Given the description of an element on the screen output the (x, y) to click on. 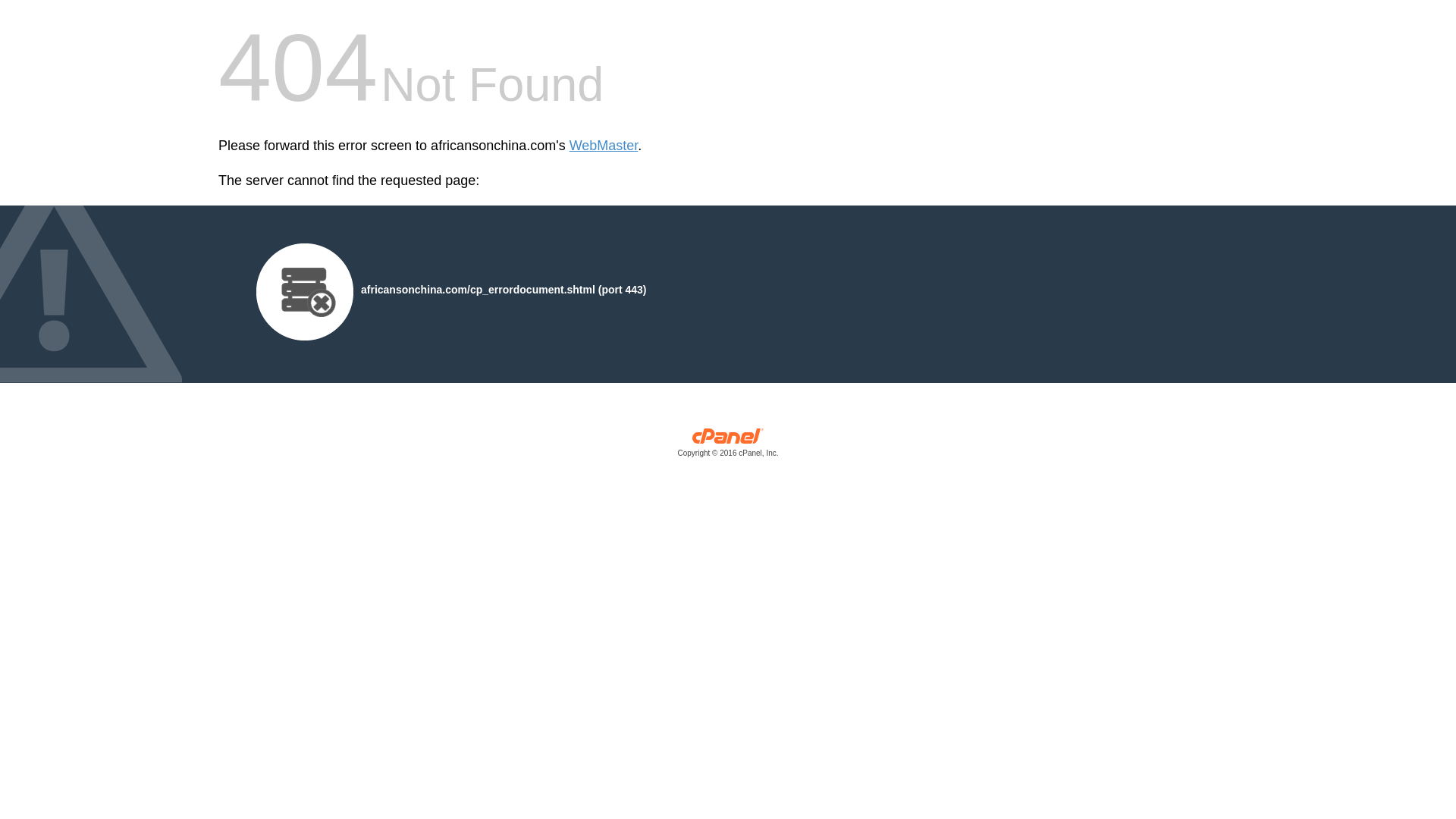
cPanel, Inc. (727, 446)
WebMaster (604, 145)
